Given the description of an element on the screen output the (x, y) to click on. 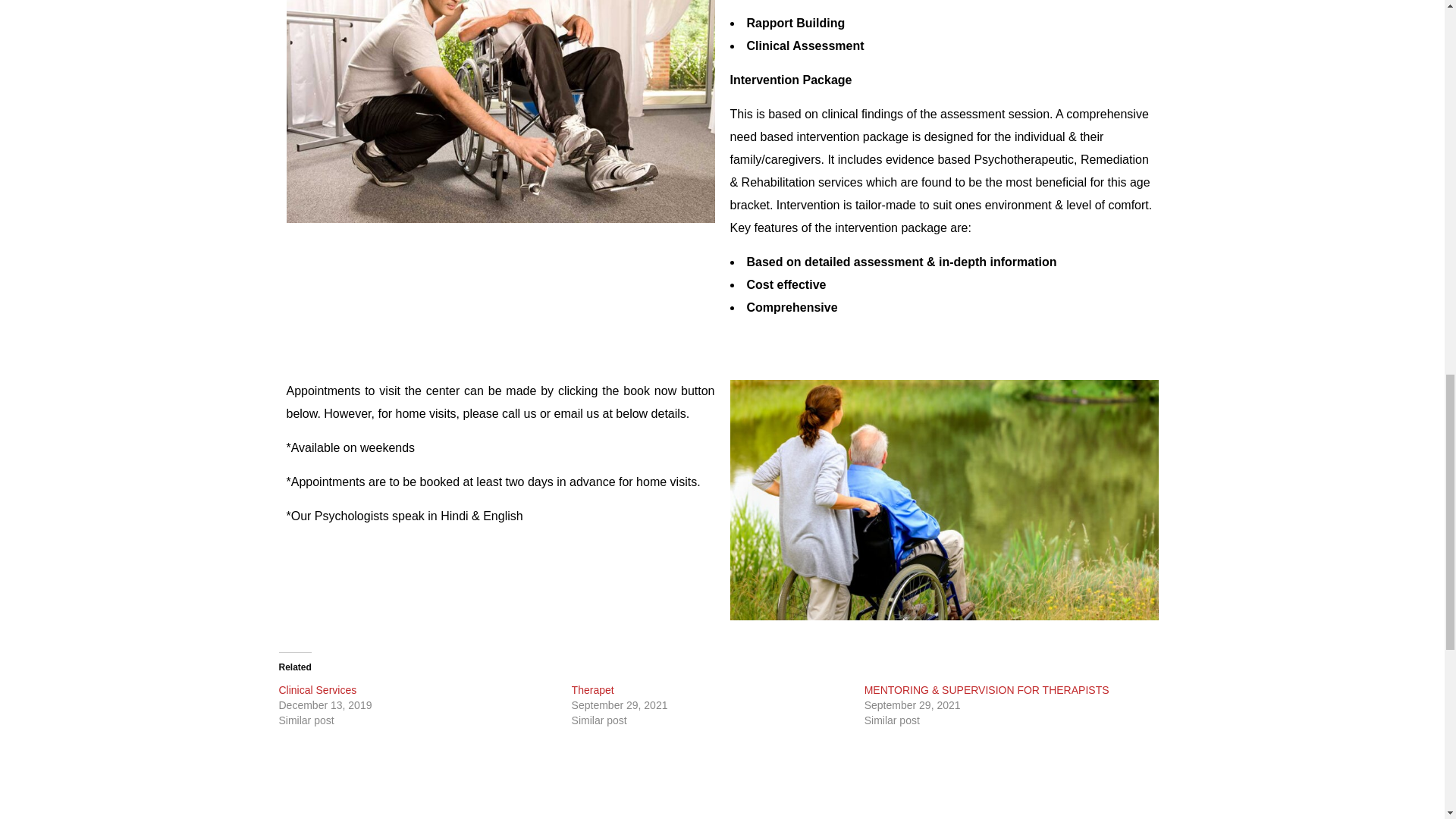
Therapet (593, 689)
Clinical Services (317, 689)
